Given the description of an element on the screen output the (x, y) to click on. 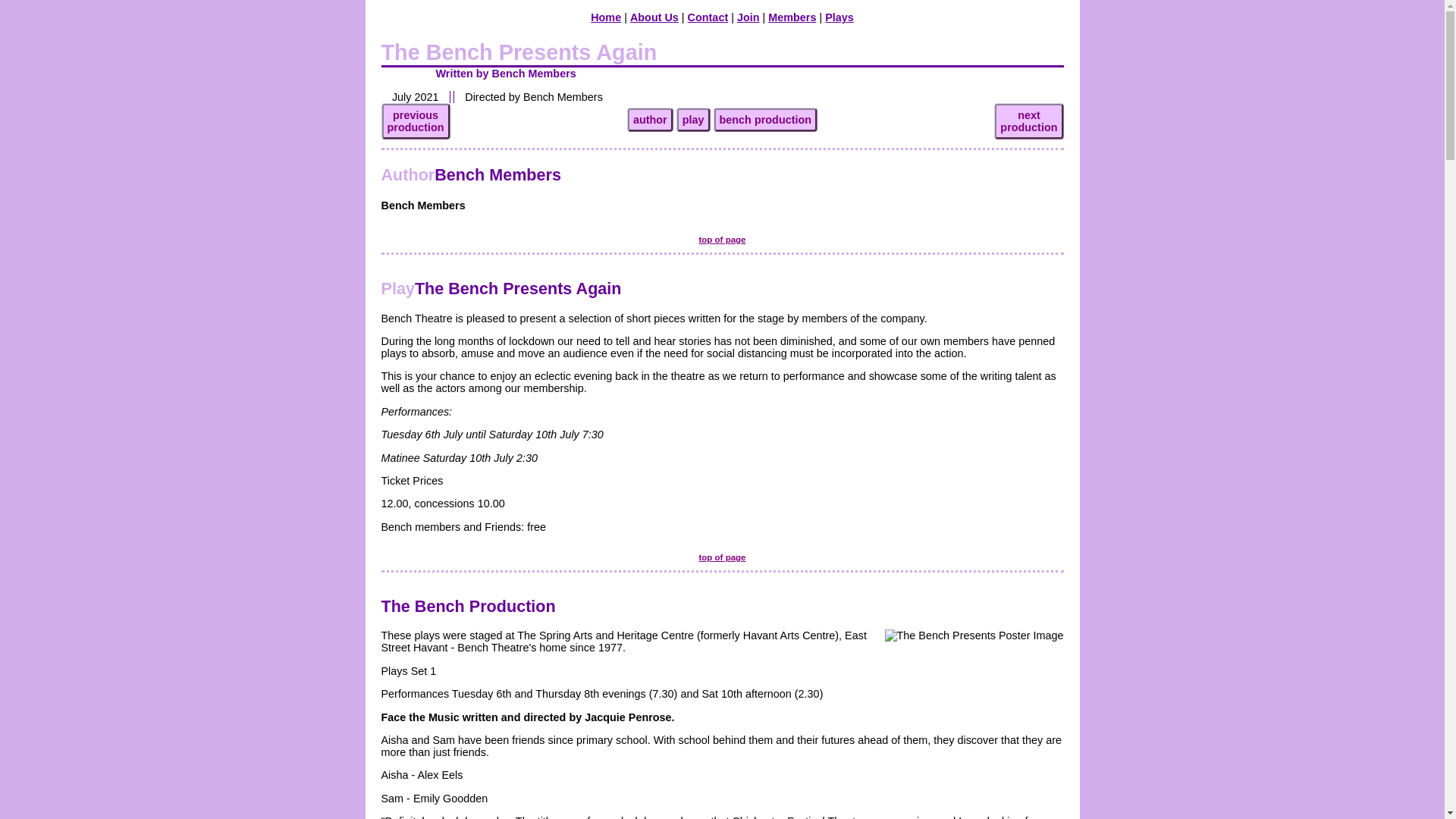
Contact (708, 17)
Join (748, 17)
Author (406, 174)
author (649, 119)
PlayThe Bench Presents Again (500, 288)
top of page (721, 239)
About Us (414, 121)
Plays (654, 17)
Members (839, 17)
top of page (791, 17)
Home (721, 556)
The Bench Production (606, 17)
play (1028, 121)
